Given the description of an element on the screen output the (x, y) to click on. 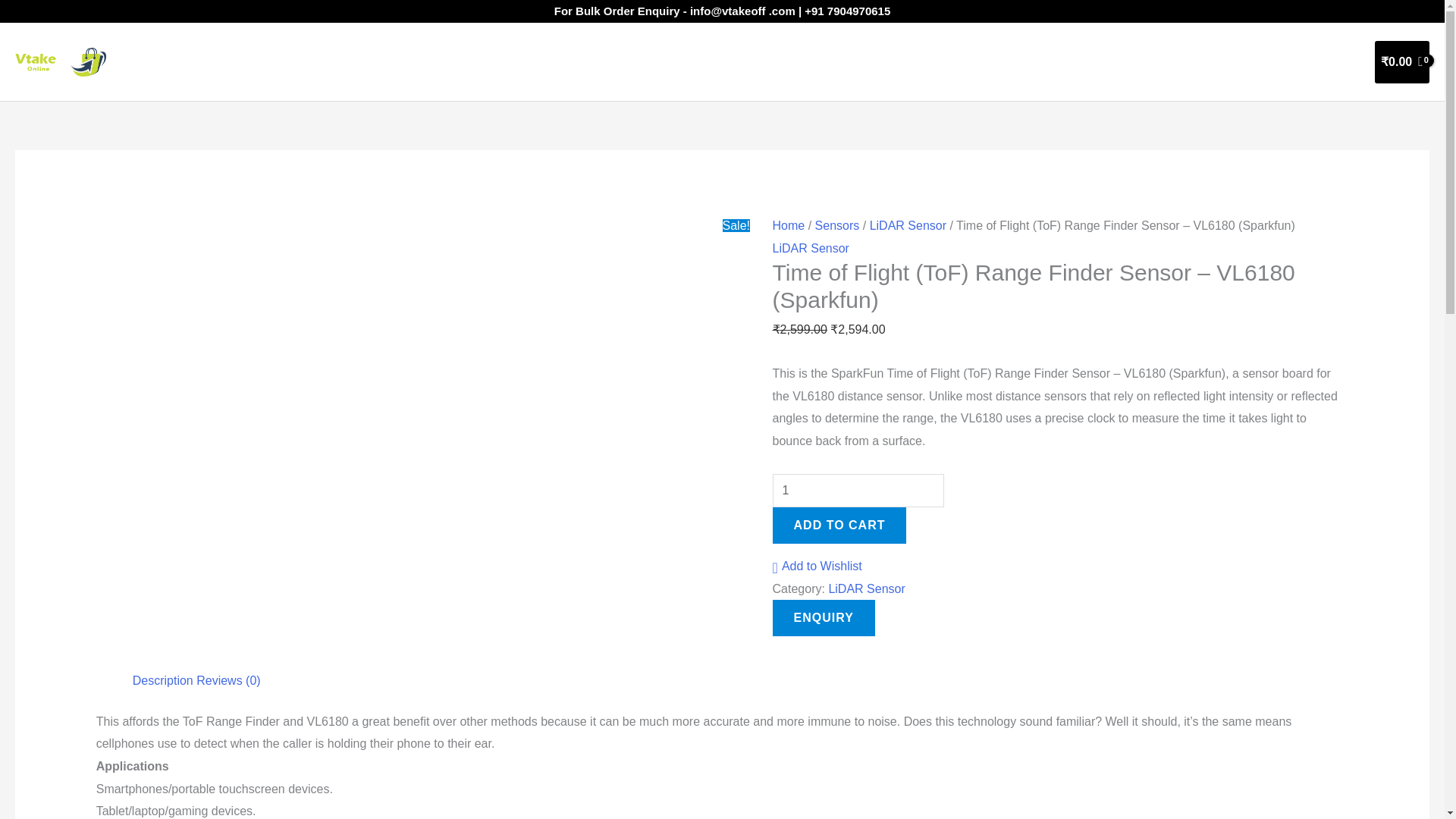
Enquiry (824, 617)
1 (858, 490)
MY ACCOUNT (1219, 61)
CONTACT US (1312, 61)
PRODUCTS (1125, 61)
HOME (981, 61)
STORE (1043, 61)
